Given the description of an element on the screen output the (x, y) to click on. 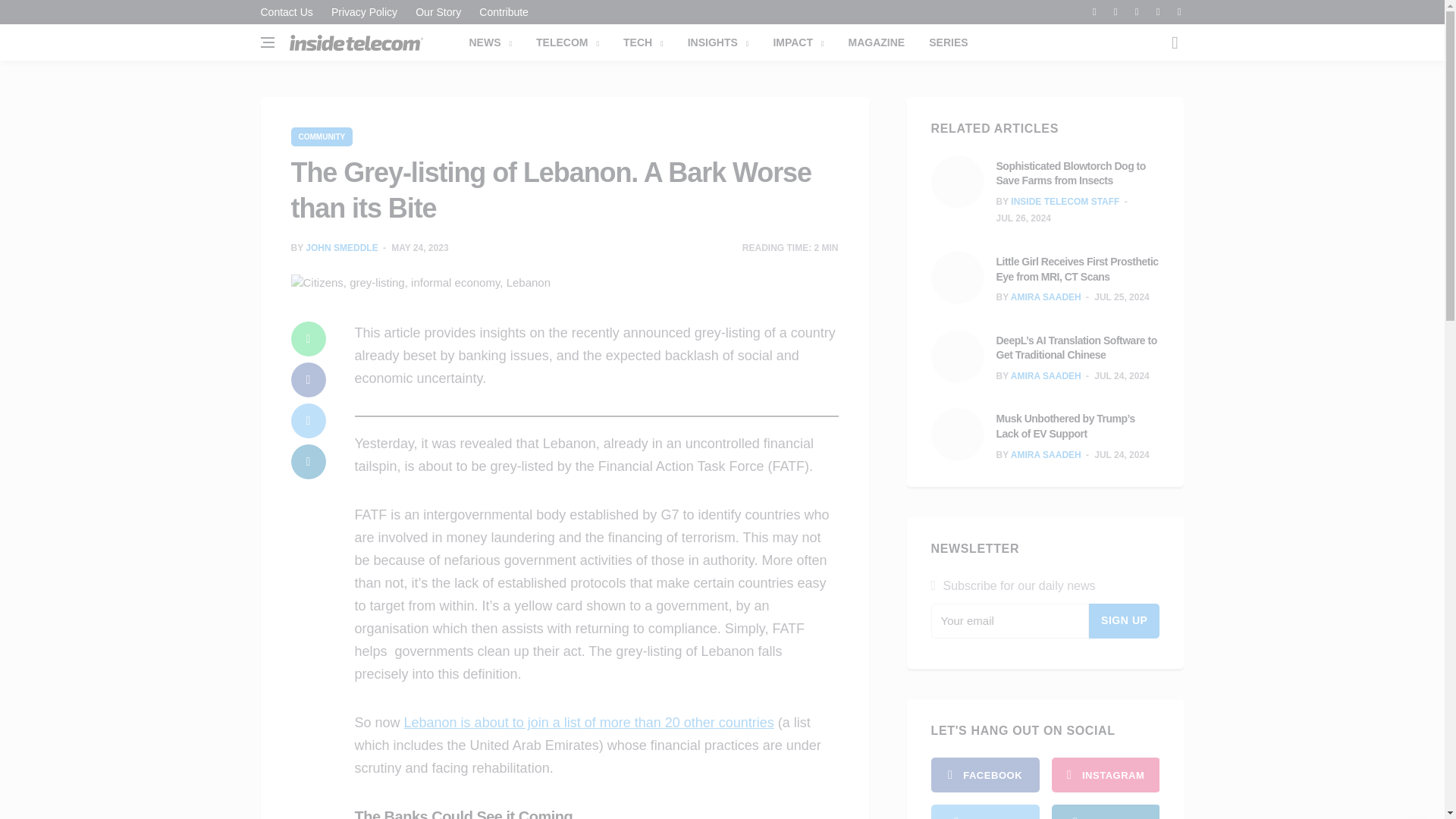
twitter (308, 420)
rss (1104, 811)
twitter (985, 811)
instagram (1104, 774)
linkedin (308, 461)
whatsapp (308, 338)
Sign Up (1124, 620)
Contact Us (290, 12)
facebook (985, 774)
Privacy Policy (363, 12)
